Given the description of an element on the screen output the (x, y) to click on. 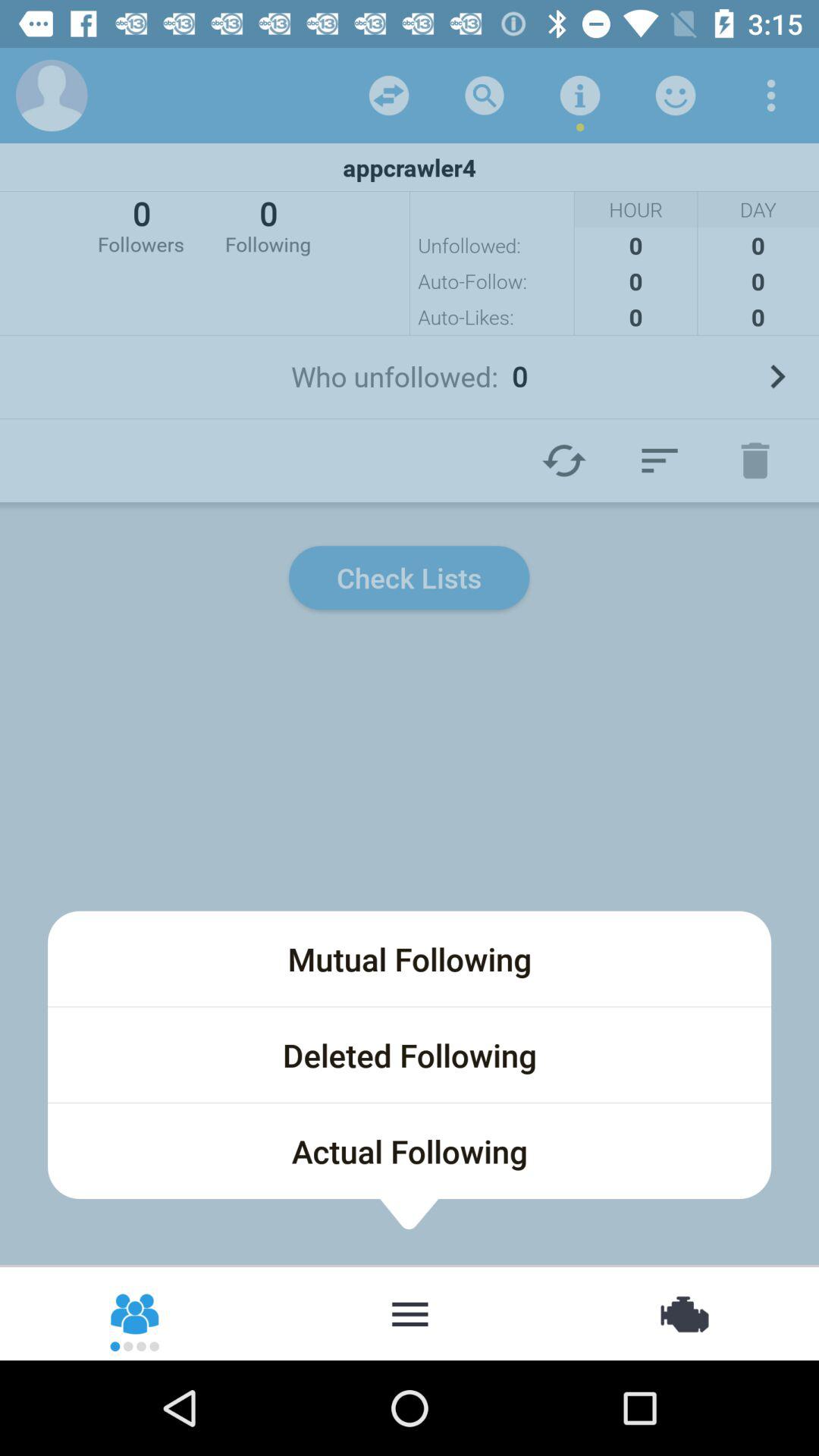
graphs (659, 460)
